Given the description of an element on the screen output the (x, y) to click on. 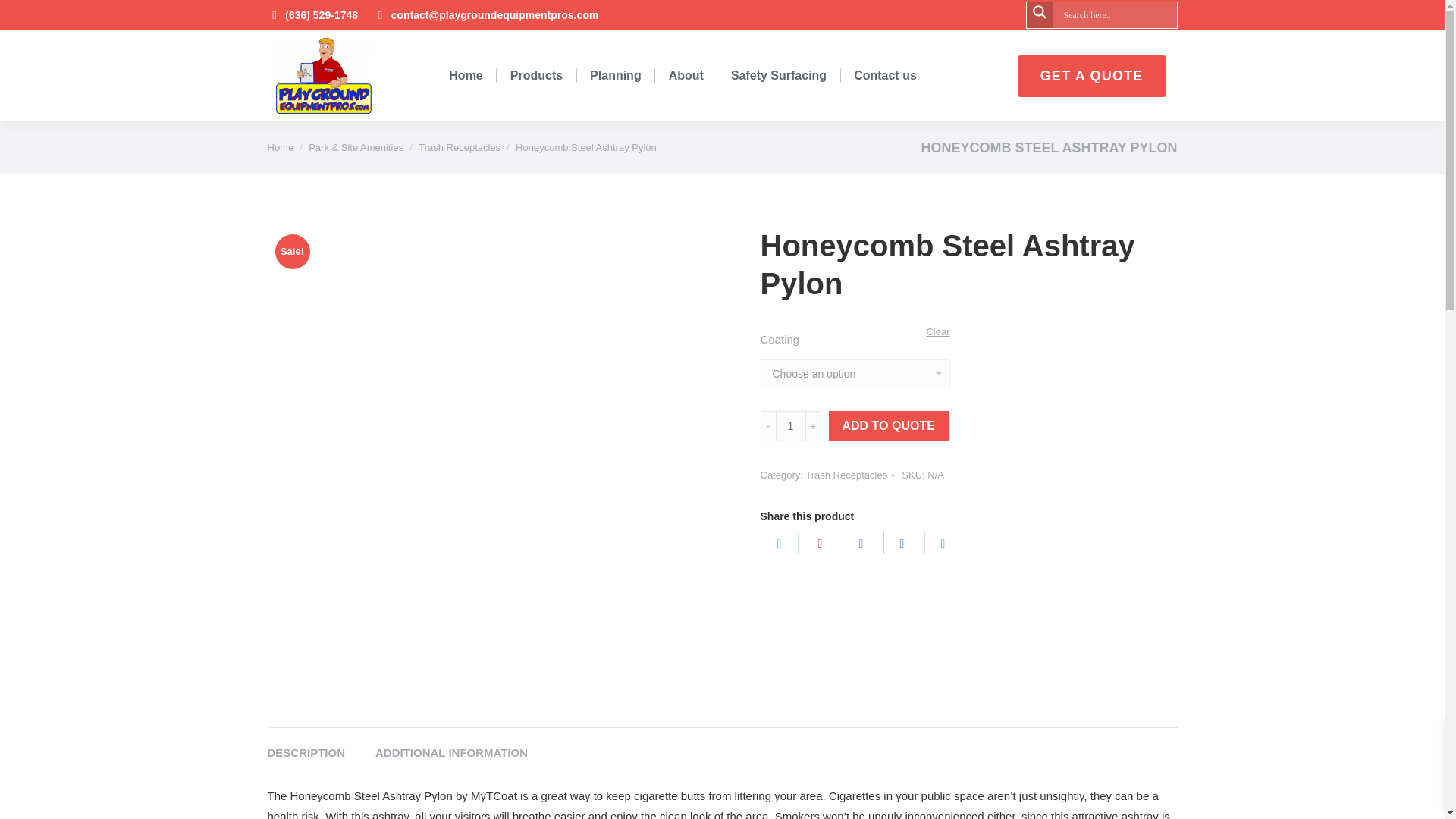
1 (789, 426)
Twitter (778, 541)
Pinterest (819, 541)
Trash Receptacles (459, 147)
Facebook (860, 541)
LinkedIn (901, 541)
Home (280, 147)
Qty (789, 426)
WhatsApp (941, 541)
